Given the description of an element on the screen output the (x, y) to click on. 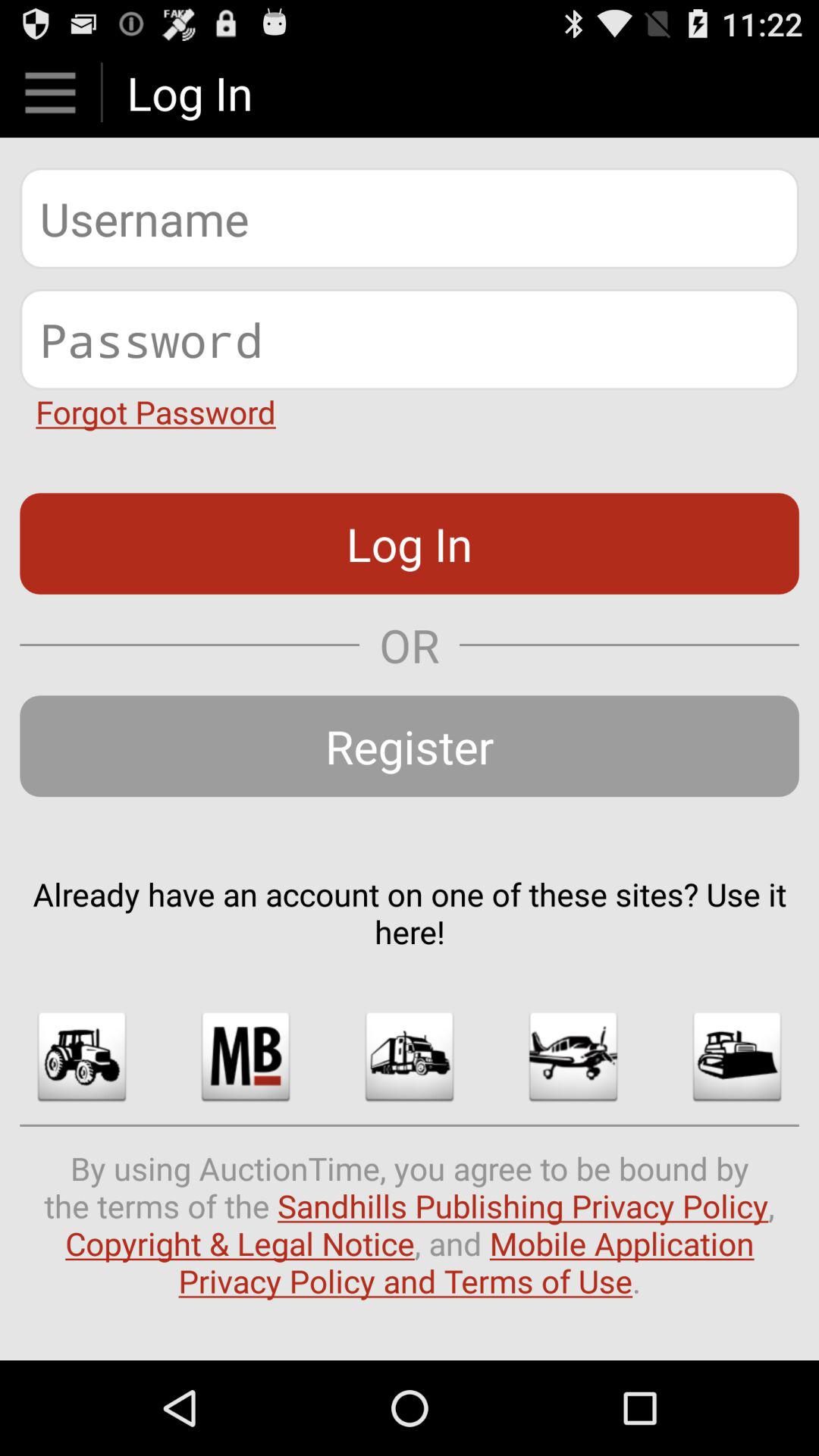
enter password (409, 339)
